Given the description of an element on the screen output the (x, y) to click on. 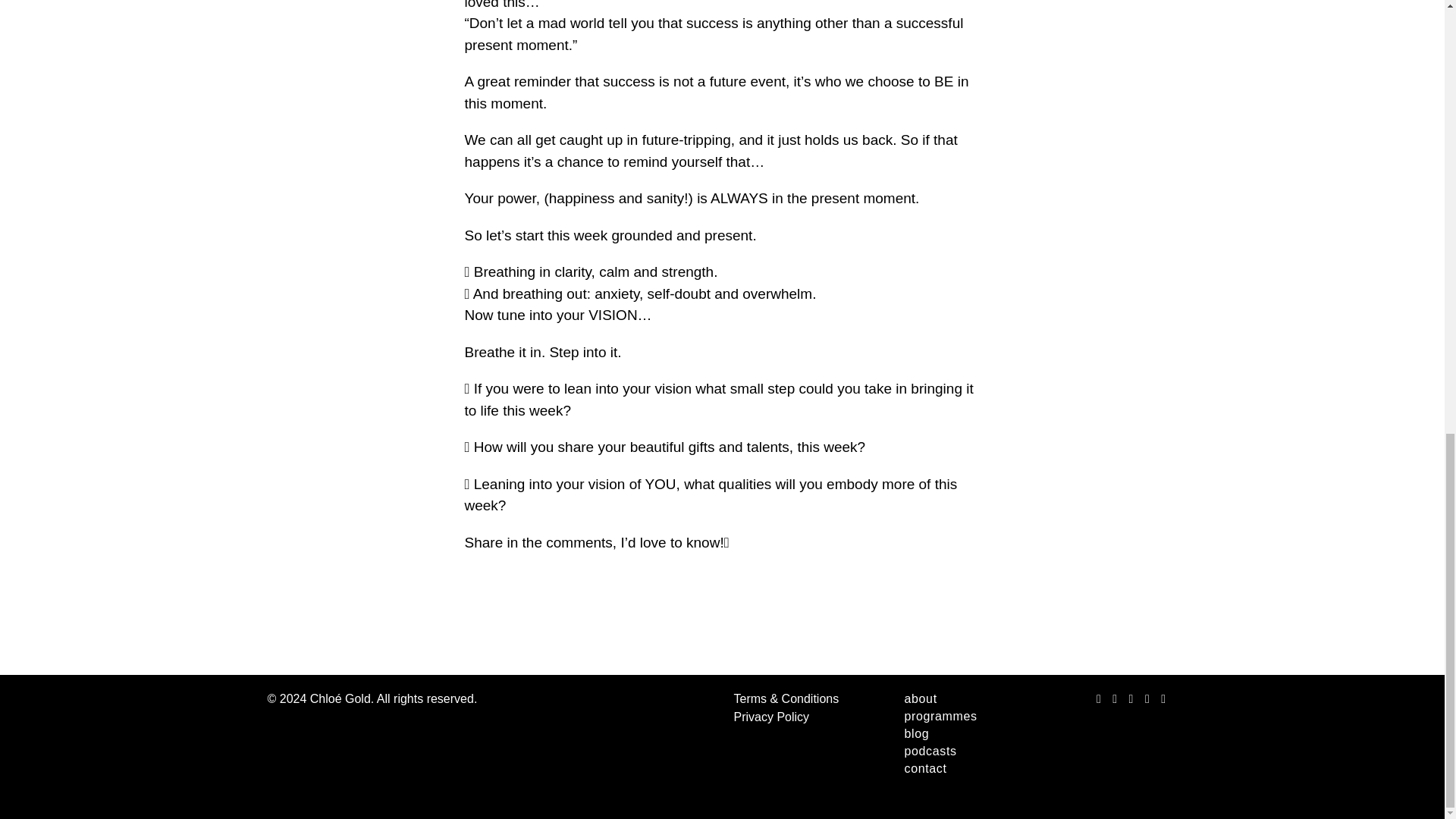
programmes (954, 716)
podcasts (954, 751)
Privacy Policy (771, 716)
about (954, 699)
contact (954, 769)
blog (954, 733)
